Given the description of an element on the screen output the (x, y) to click on. 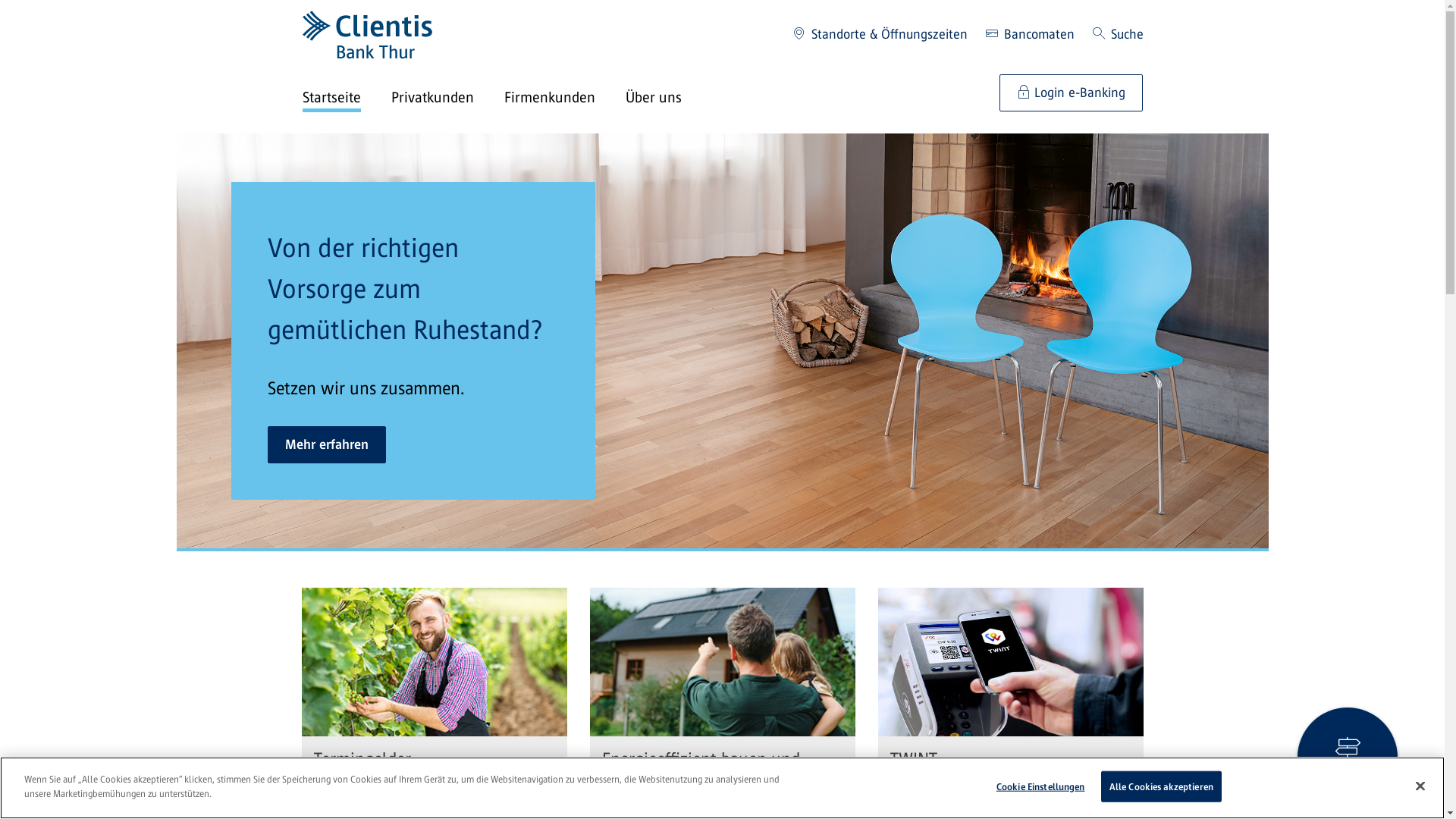
Firmenkunden Element type: text (563, 98)
Cookie Einstellungen Element type: text (1040, 786)
Bancomaten Element type: text (1029, 34)
Privatkunden Element type: text (447, 98)
Kontakt Element type: text (1347, 757)
Alle Cookies akzeptieren Element type: text (1161, 787)
Login e-Banking Element type: text (1070, 92)
Suche Element type: text (1117, 34)
Startseite Element type: text (345, 98)
